Given the description of an element on the screen output the (x, y) to click on. 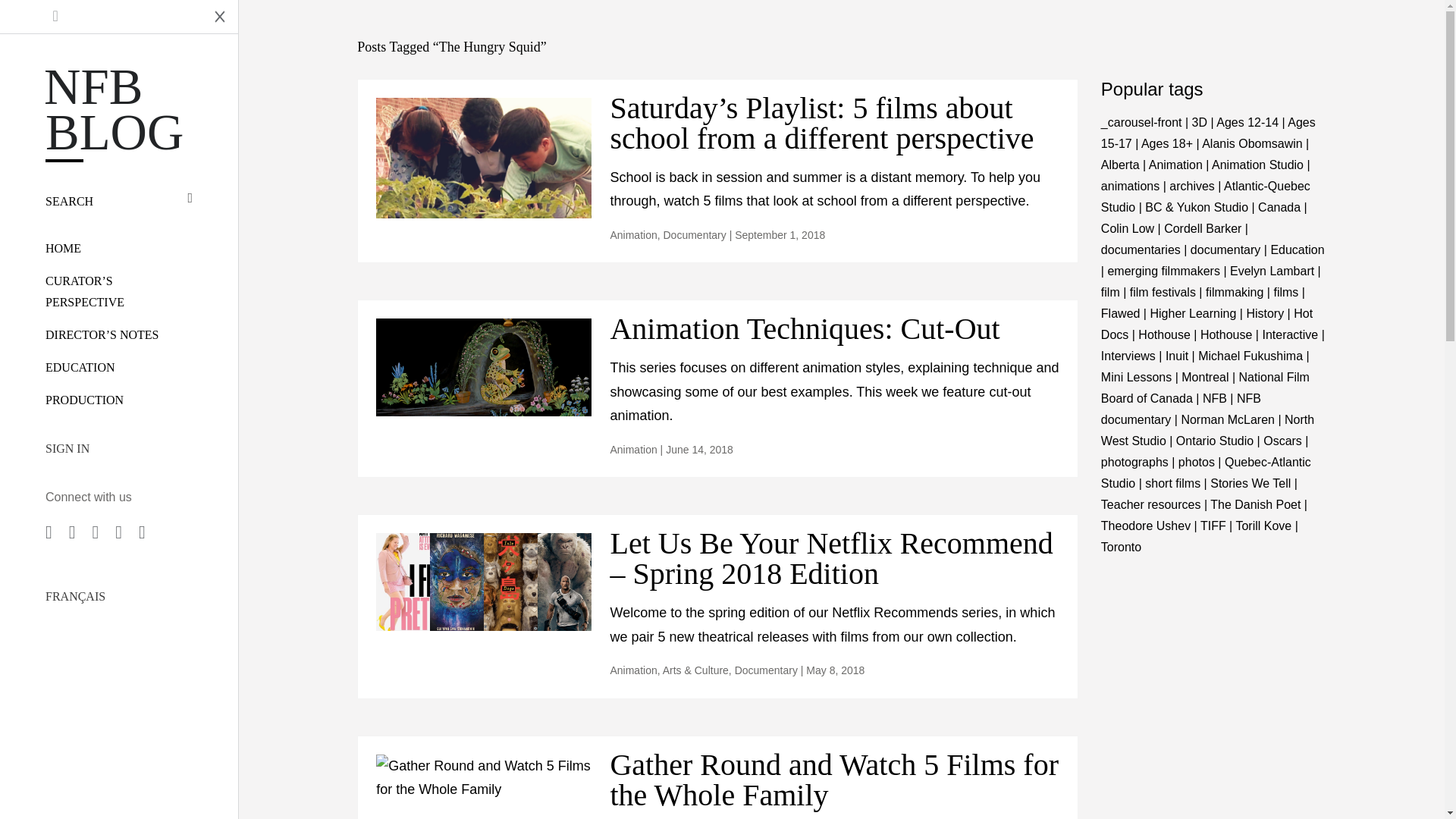
animations (1129, 185)
Ages 12-14 (1246, 122)
SEARCH (118, 201)
Alanis Obomsawin (1252, 143)
NFB BLOG (118, 108)
Animation (1175, 164)
HOME (63, 247)
Animation Studio (1257, 164)
EDUCATION (80, 367)
Visit NFB.ca (100, 16)
